Given the description of an element on the screen output the (x, y) to click on. 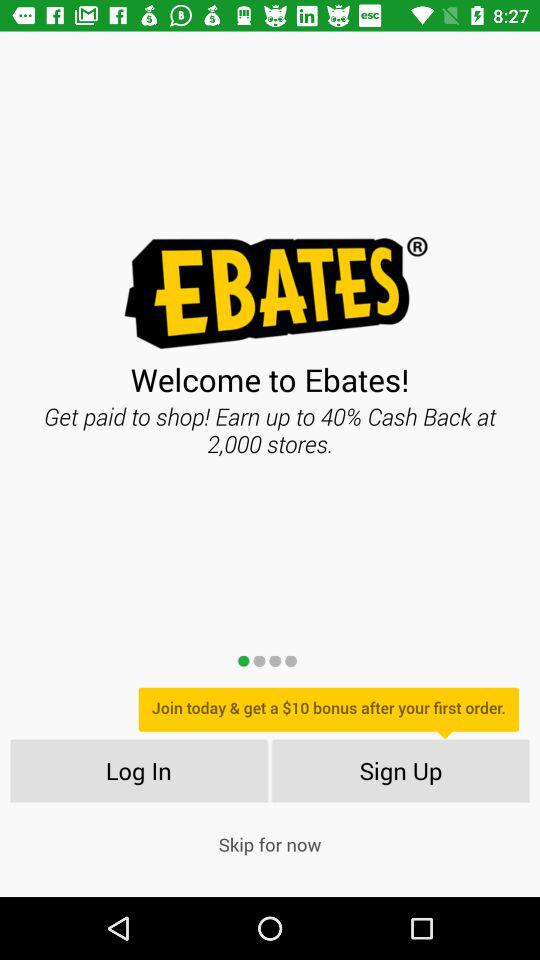
select the item above skip for now icon (400, 770)
